Given the description of an element on the screen output the (x, y) to click on. 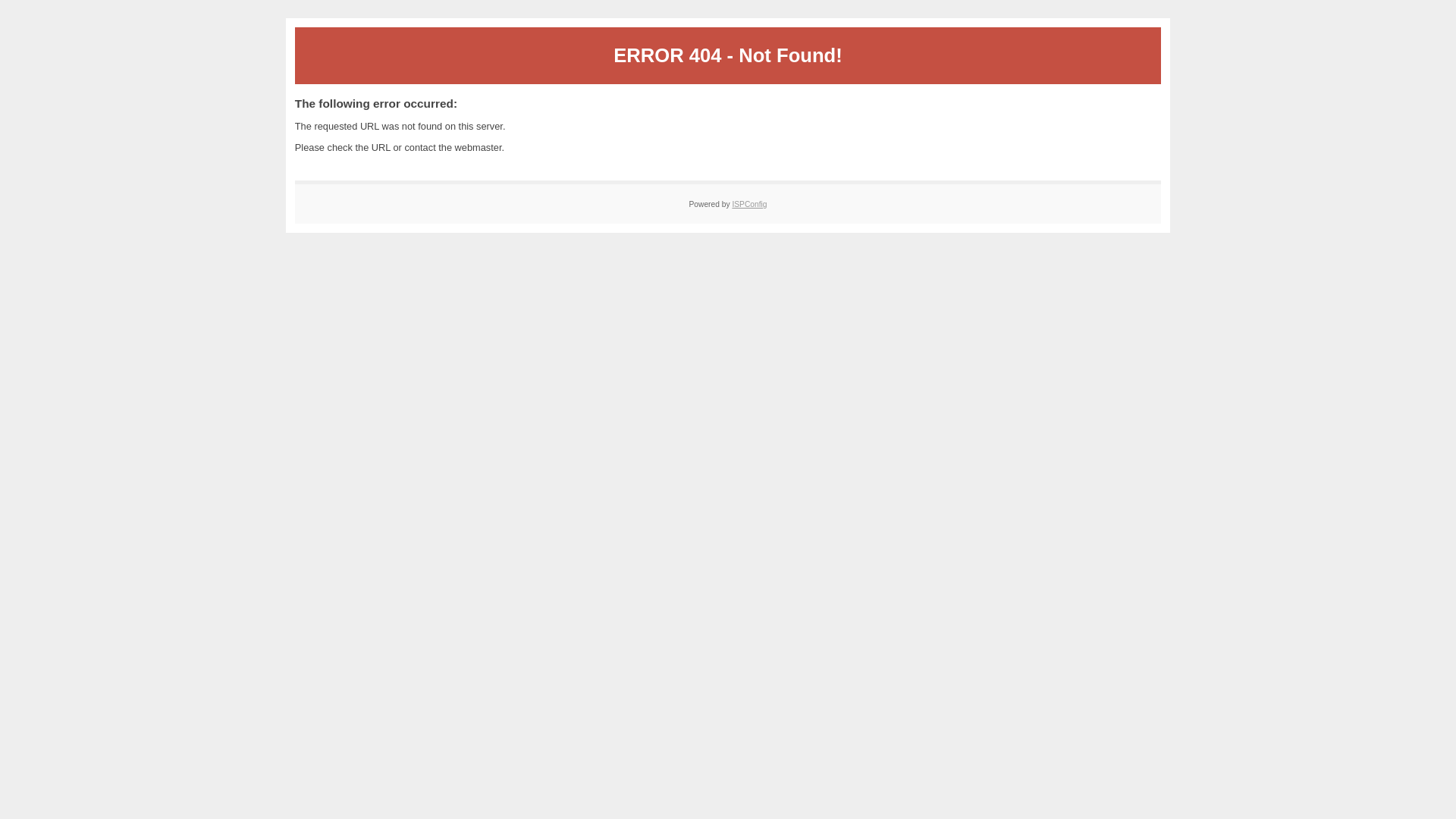
ISPConfig Element type: text (748, 204)
